Given the description of an element on the screen output the (x, y) to click on. 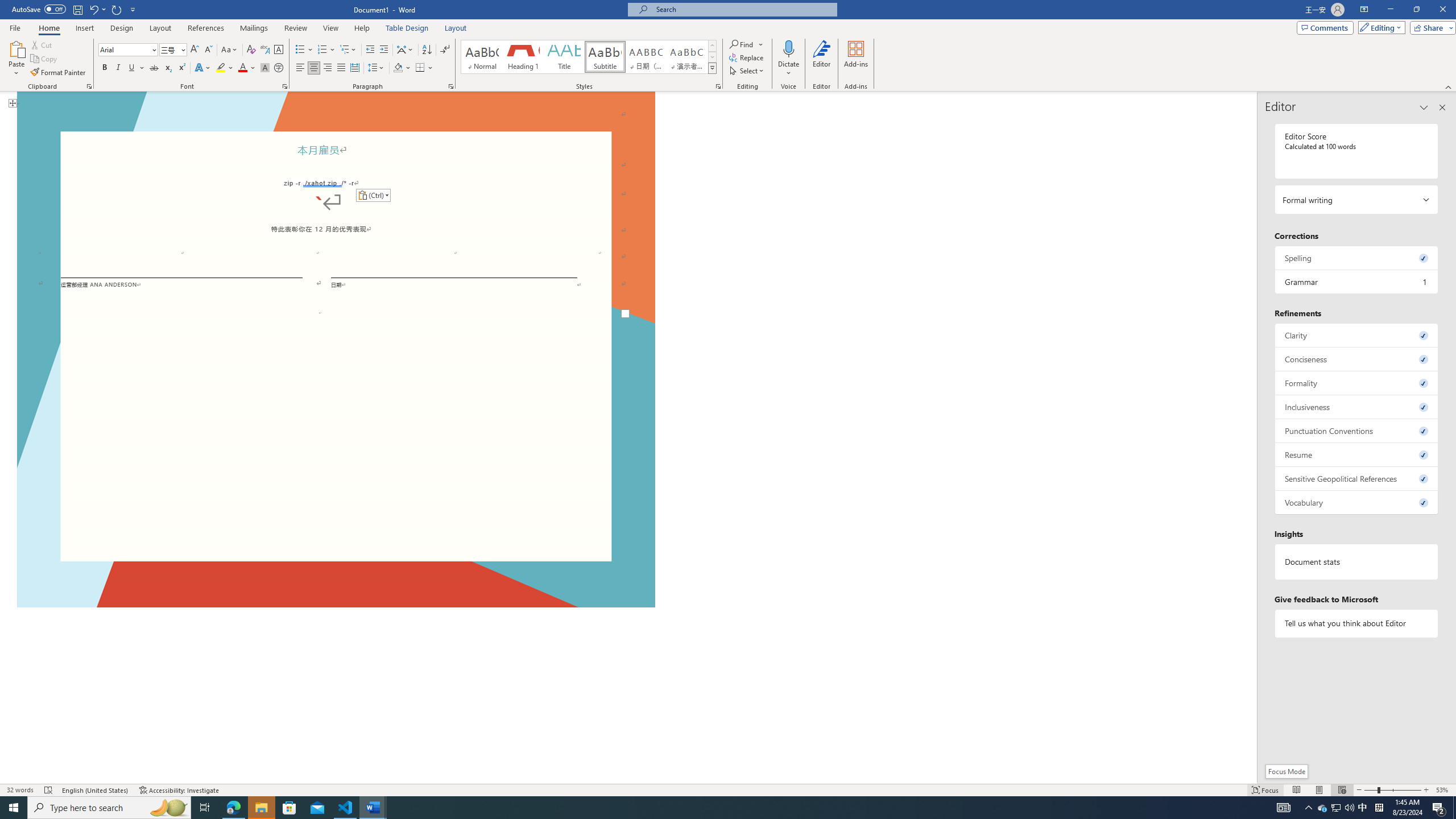
Resume, 0 issues. Press space or enter to review items. (1356, 454)
